Given the description of an element on the screen output the (x, y) to click on. 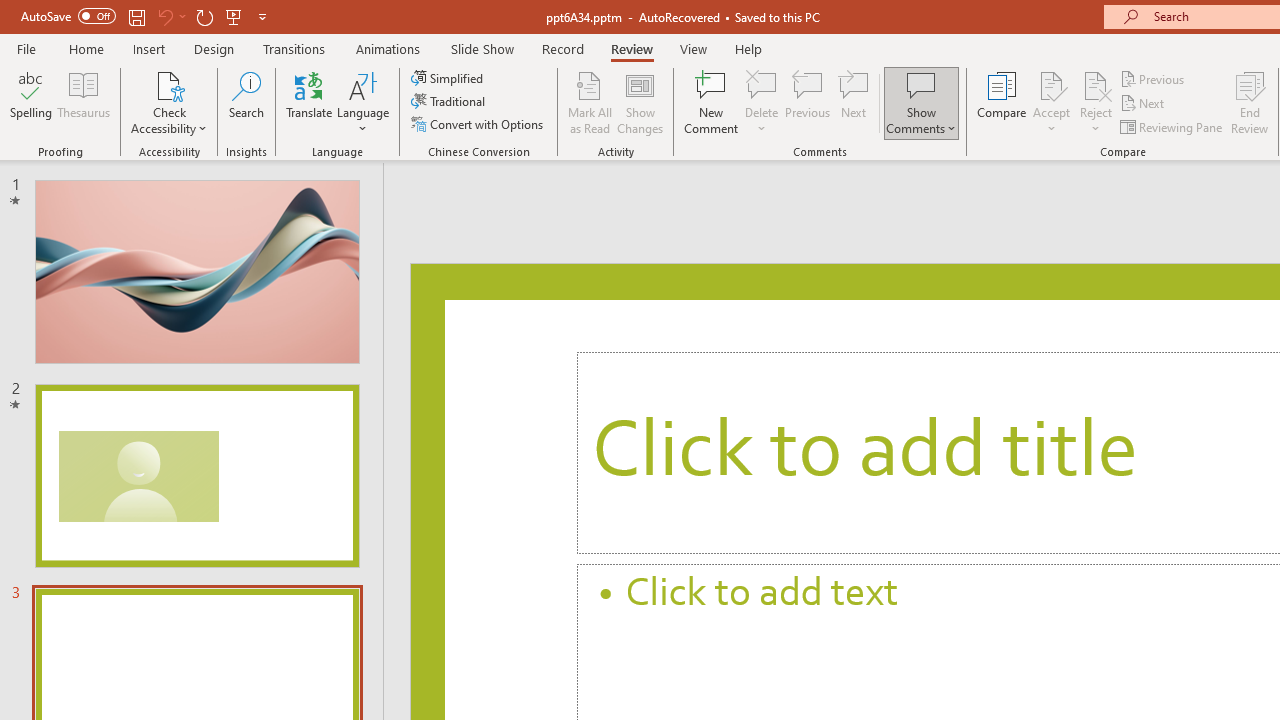
Language (363, 102)
Reject (1096, 102)
Accept (1051, 102)
Previous (1153, 78)
Next (1144, 103)
